Given the description of an element on the screen output the (x, y) to click on. 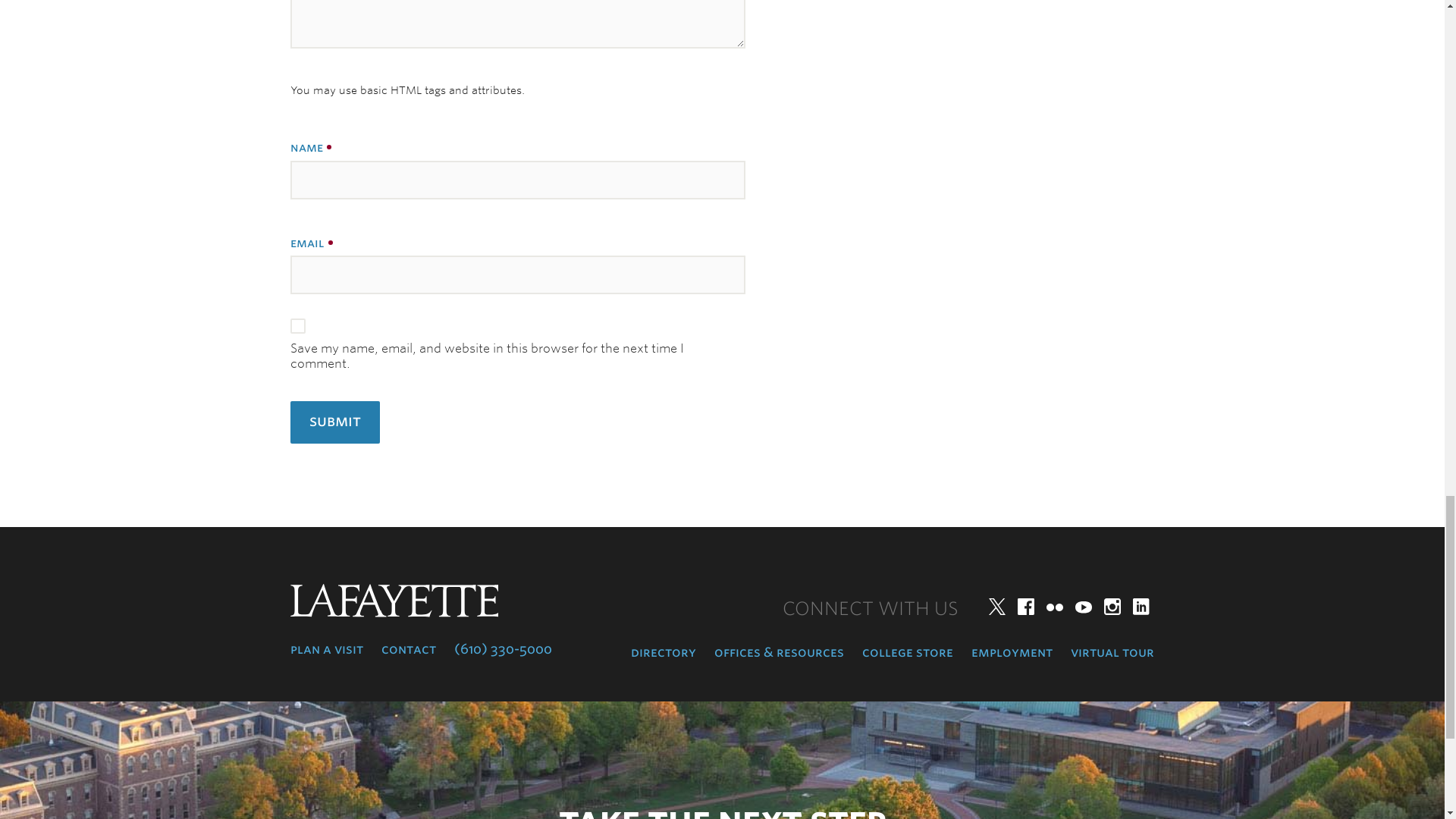
submit (333, 422)
